Given the description of an element on the screen output the (x, y) to click on. 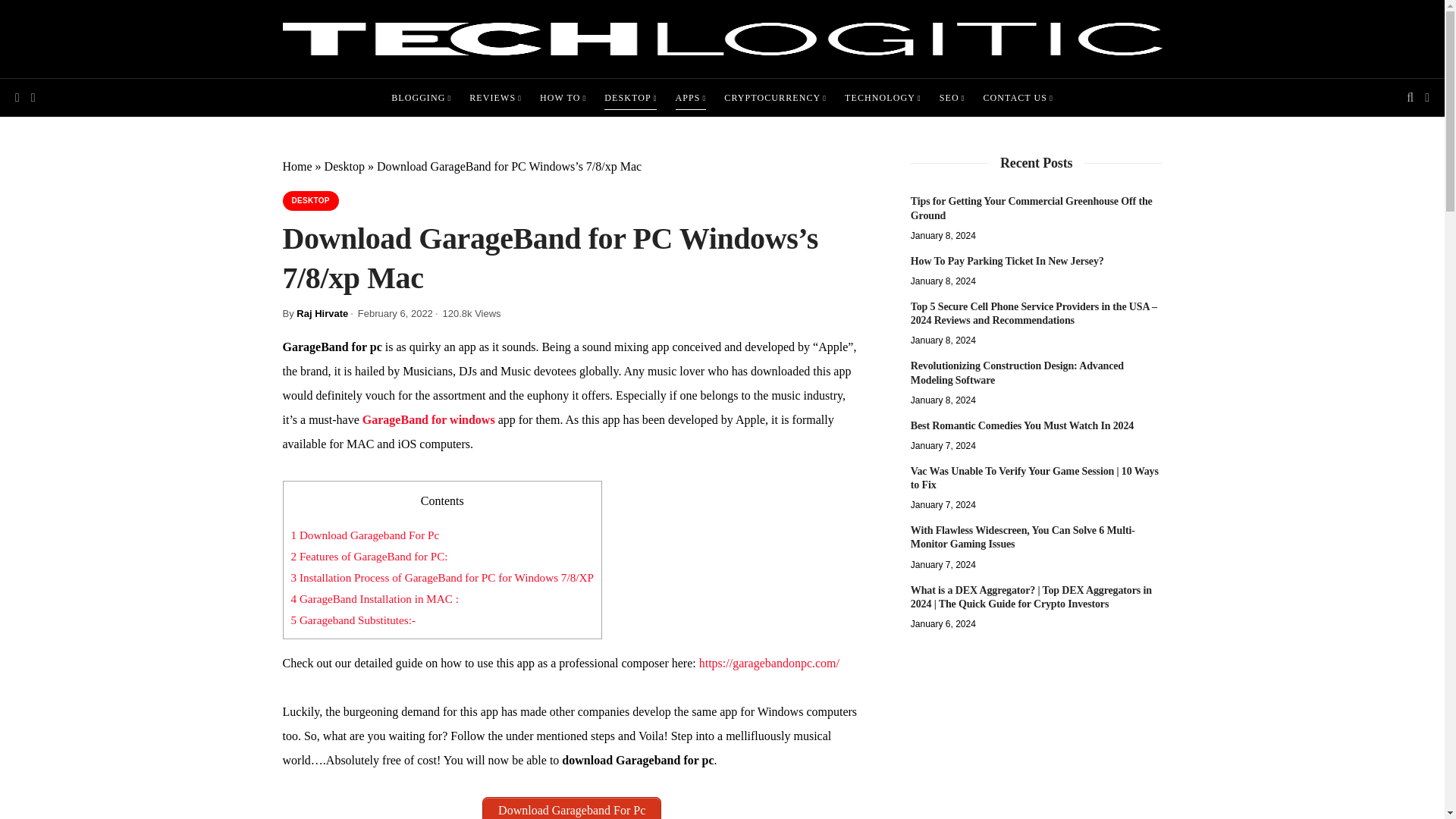
Posts by Raj Hirvate (322, 313)
HOW TO (563, 97)
BLOGGING (421, 97)
DESKTOP (630, 97)
REVIEWS (494, 97)
